Given the description of an element on the screen output the (x, y) to click on. 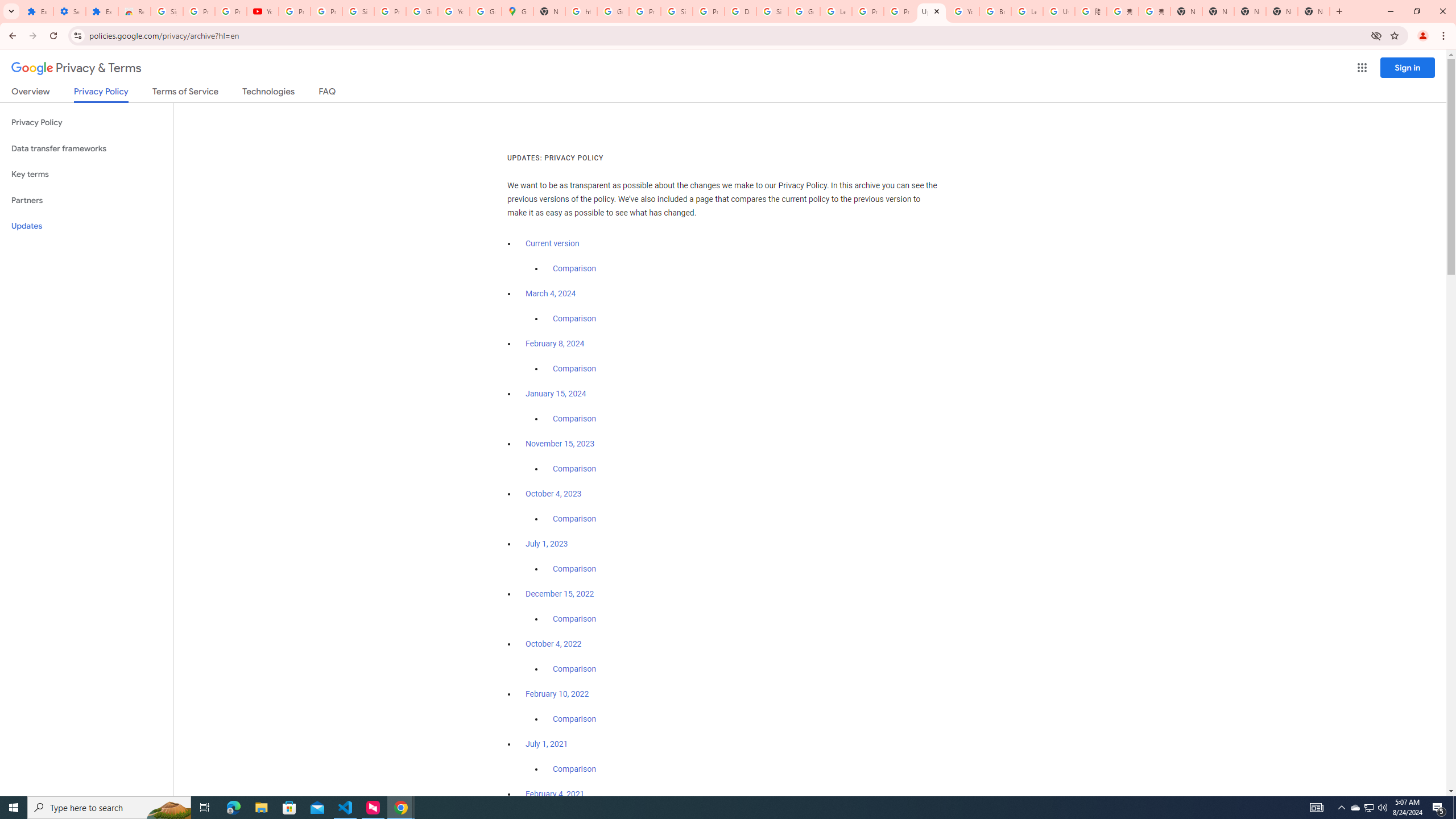
Partners (86, 199)
Delete specific Google services or your Google Account (740, 11)
Privacy Help Center - Policies Help (868, 11)
New Tab (1185, 11)
Settings (69, 11)
